Given the description of an element on the screen output the (x, y) to click on. 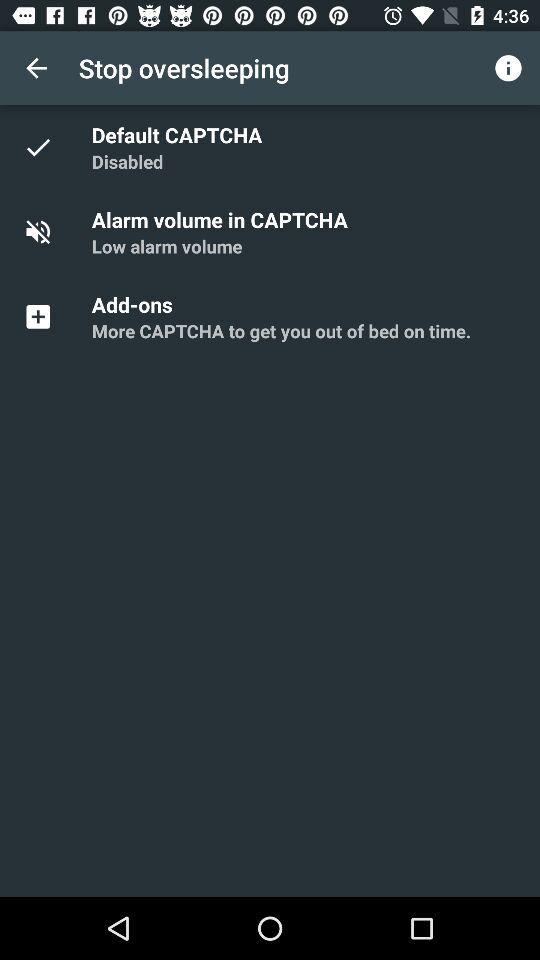
scroll to add-ons (135, 304)
